Given the description of an element on the screen output the (x, y) to click on. 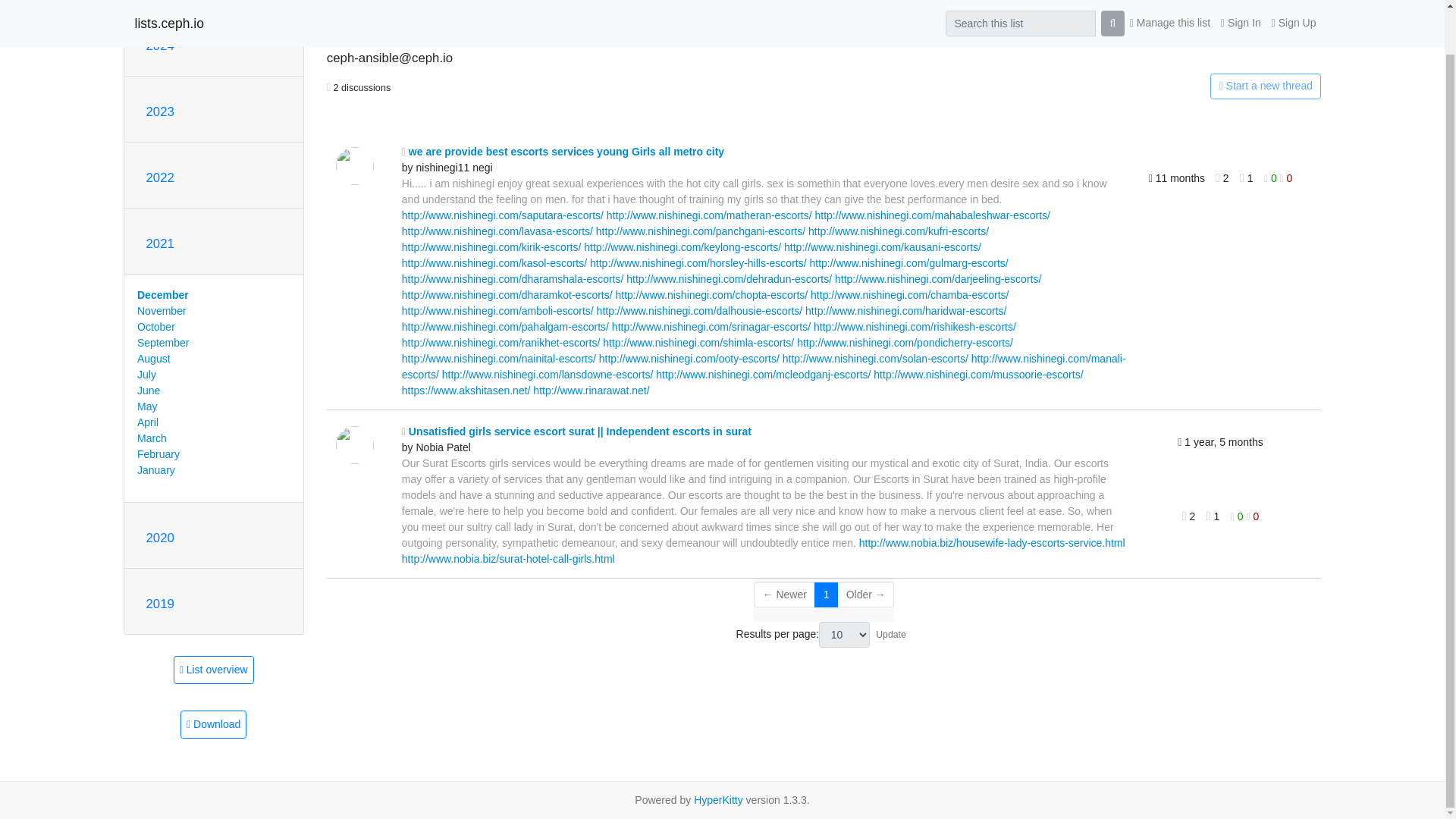
You must be logged-in to vote. (1252, 516)
You must be logged-in to vote. (1271, 177)
Tuesday, 14 February 2023 11:08:11 (1220, 442)
This month in gzipped mbox format (213, 724)
2023 (159, 111)
You must be logged-in to vote. (1238, 516)
You must be logged-in to create a thread. (1162, 86)
2024 (159, 45)
Update (890, 634)
2022 (159, 177)
